Given the description of an element on the screen output the (x, y) to click on. 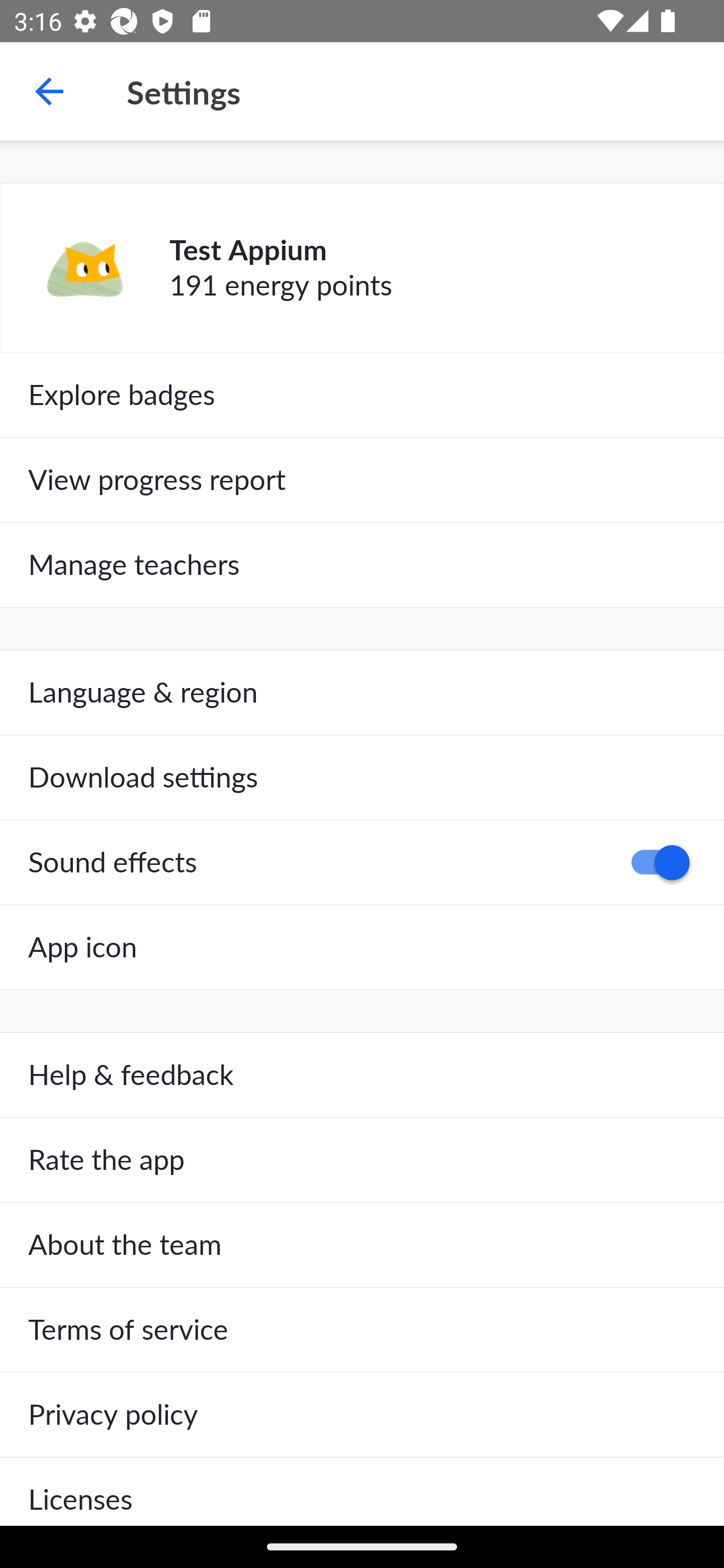
Navigate up (49, 91)
Explore badges (362, 394)
View progress report (362, 479)
Manage teachers (362, 565)
Language & region (362, 692)
Download settings (362, 777)
ON (653, 861)
App icon (362, 946)
Help & feedback (362, 1075)
Rate the app (362, 1159)
About the team (362, 1244)
Terms of service (362, 1329)
Privacy policy (362, 1414)
Licenses (362, 1490)
